Given the description of an element on the screen output the (x, y) to click on. 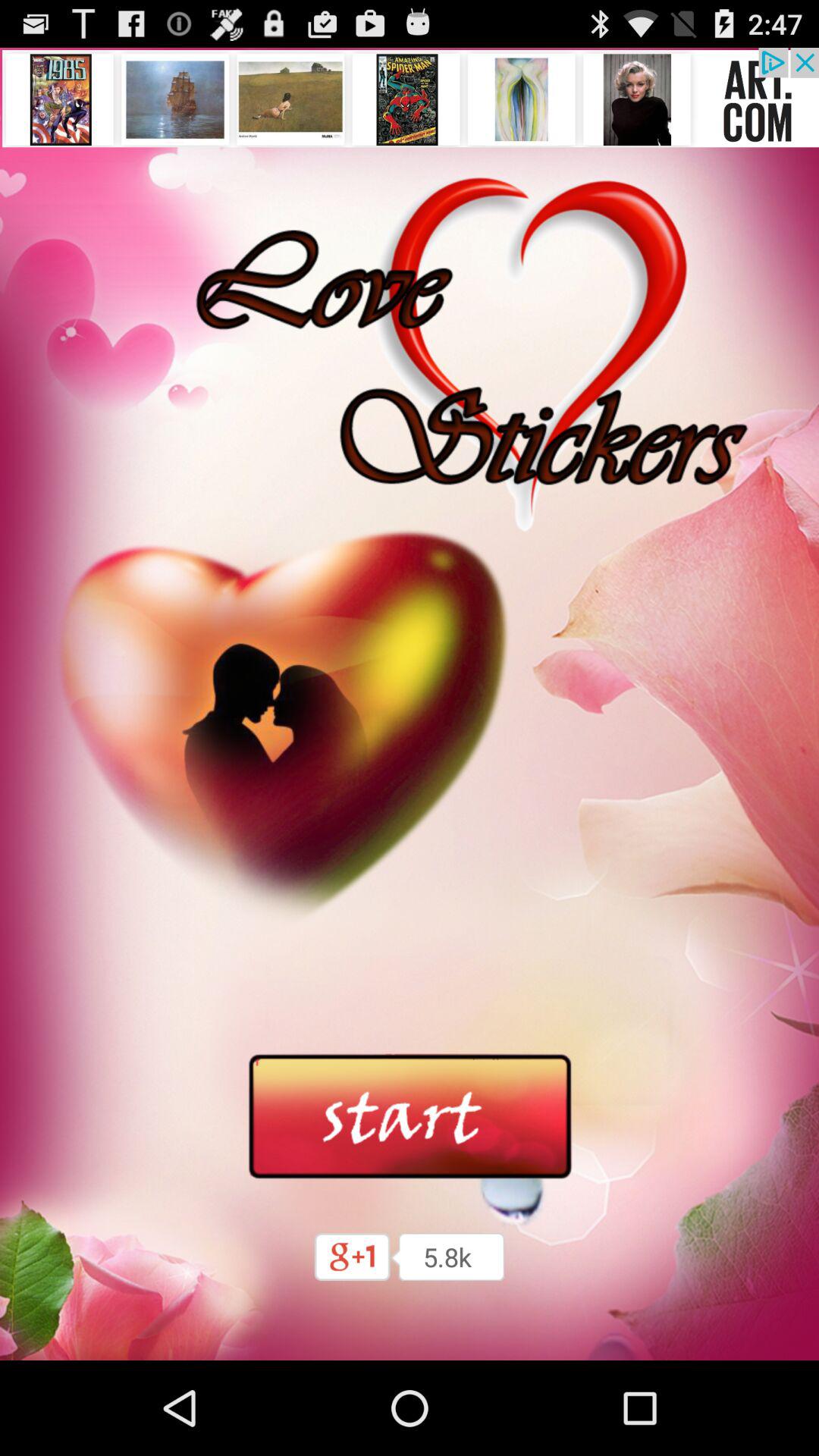
open advertisement (409, 97)
